Given the description of an element on the screen output the (x, y) to click on. 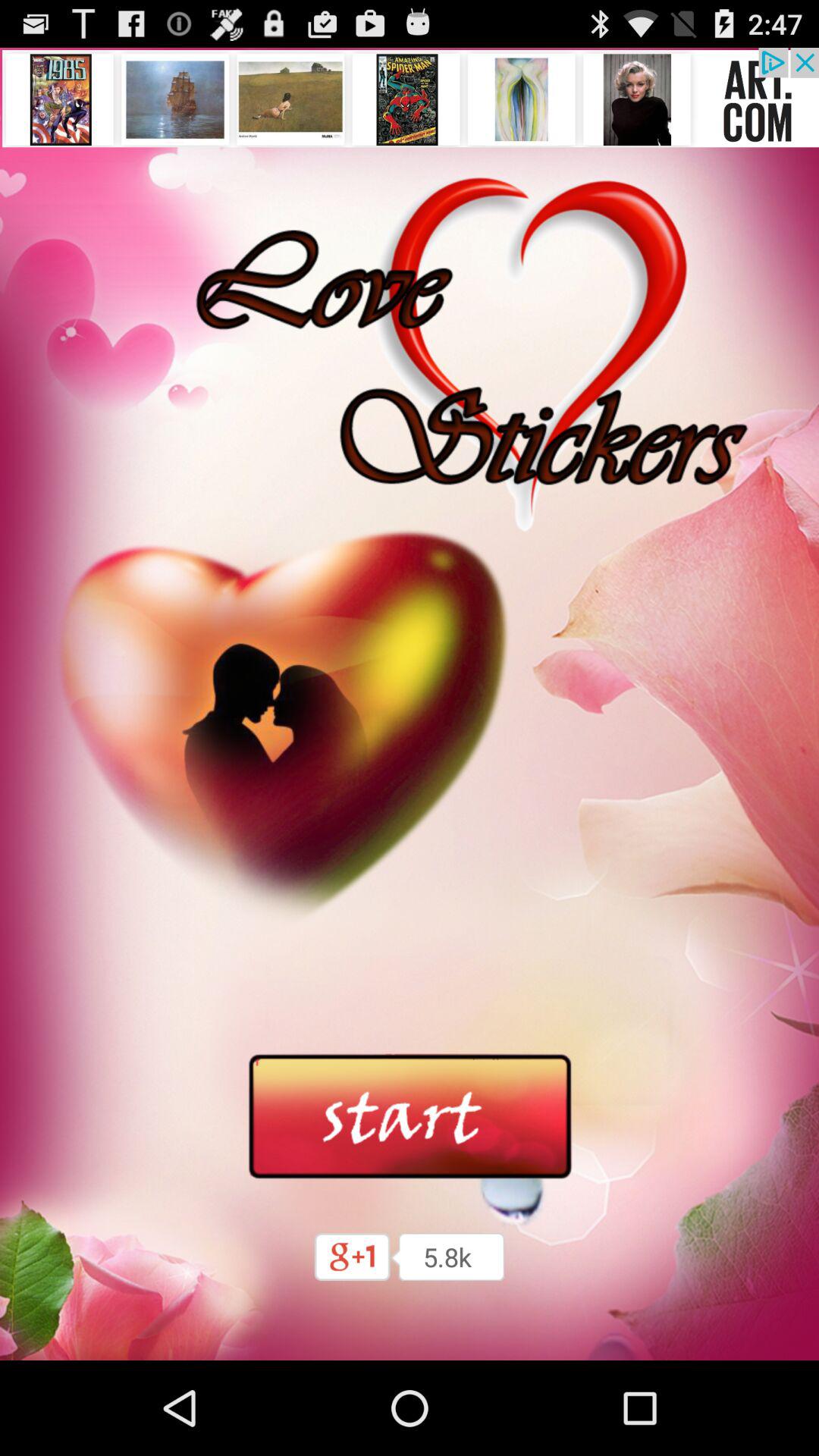
open advertisement (409, 97)
